Given the description of an element on the screen output the (x, y) to click on. 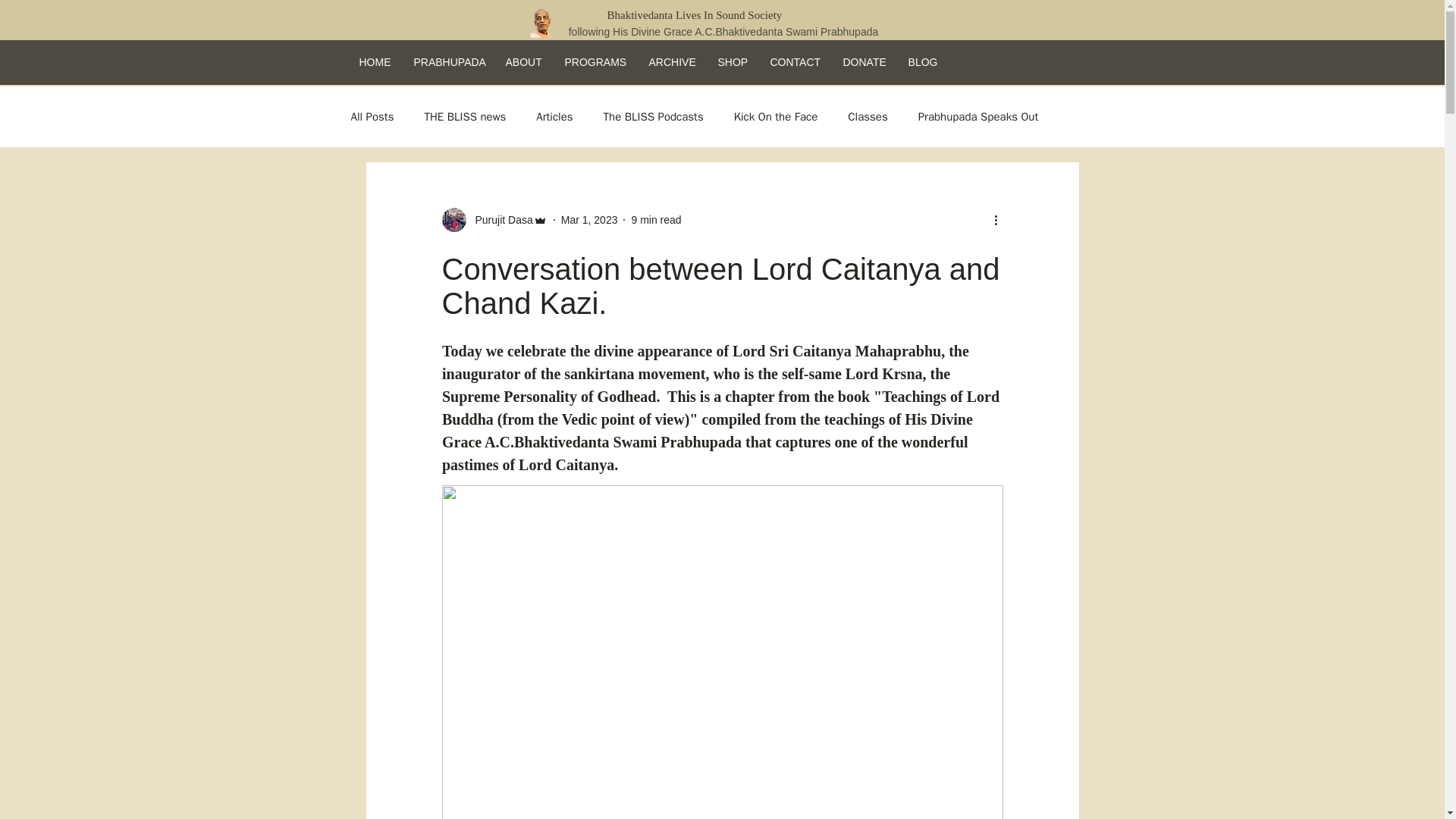
Classes (866, 115)
Kick On the Face (775, 115)
CONTACT (794, 61)
Prabhupada Speaks Out (978, 115)
Mar 1, 2023 (588, 219)
ARCHIVE (671, 61)
9 min read (655, 219)
Articles (553, 115)
PROGRAMS (595, 61)
Purujit Dasa (498, 220)
DONATE (863, 61)
Bhaktivedanta Lives In Sound Society (723, 14)
HOME (374, 61)
Purujit Dasa (494, 219)
